Given the description of an element on the screen output the (x, y) to click on. 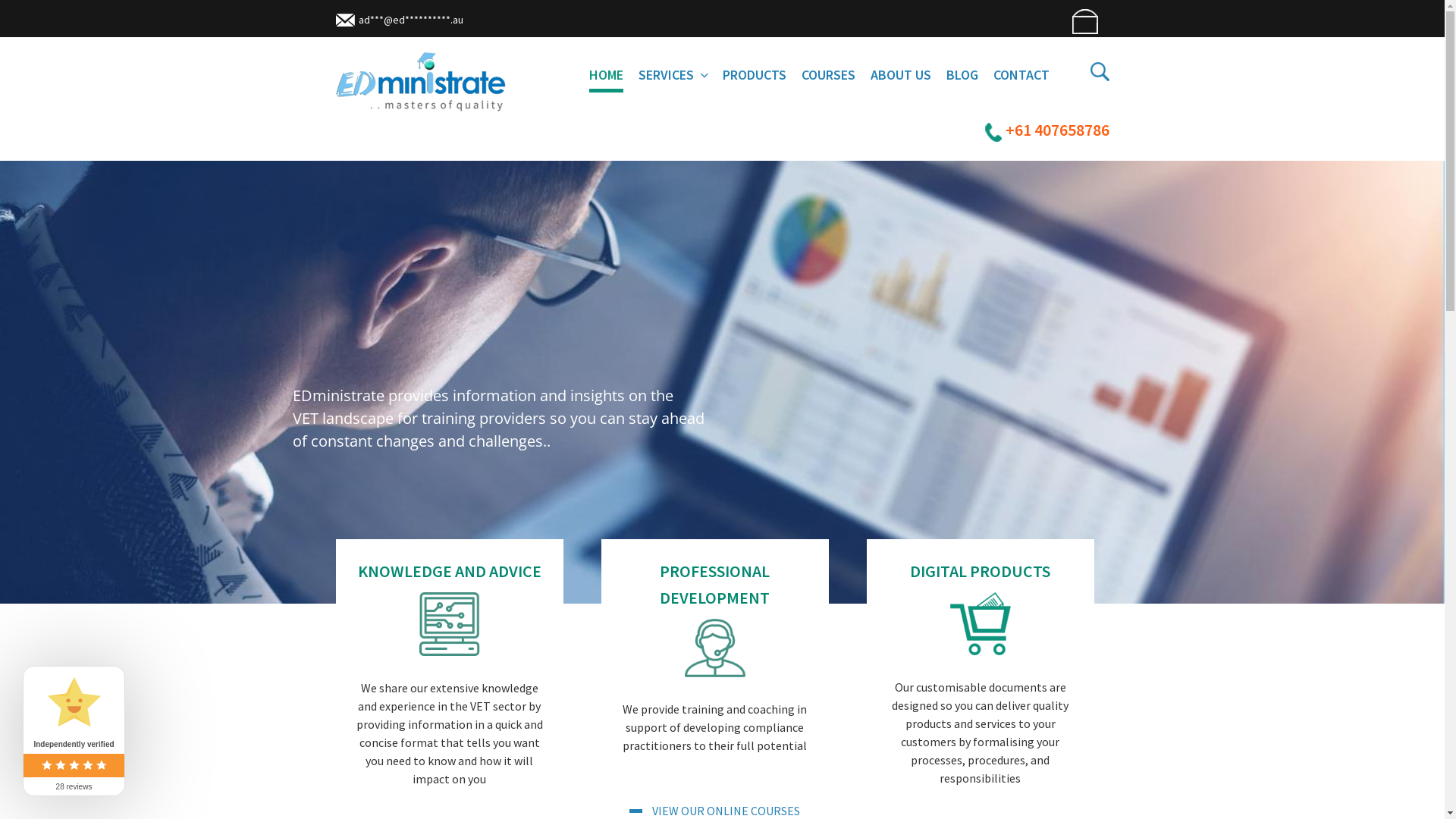
ad***@ed**********.au Element type: text (398, 20)
View your shopping cart Element type: hover (1082, 21)
ABOUT US Element type: text (900, 74)
SERVICES Element type: text (672, 74)
HOME Element type: text (605, 76)
PRODUCTS Element type: text (753, 74)
COURSES Element type: text (827, 74)
EDMINISTRATE Element type: text (437, 134)
BLOG Element type: text (962, 74)
CONTACT Element type: text (1021, 74)
+61 407658786 Element type: text (1045, 130)
VIEW OUR ONLINE COURSES Element type: text (714, 810)
